Given the description of an element on the screen output the (x, y) to click on. 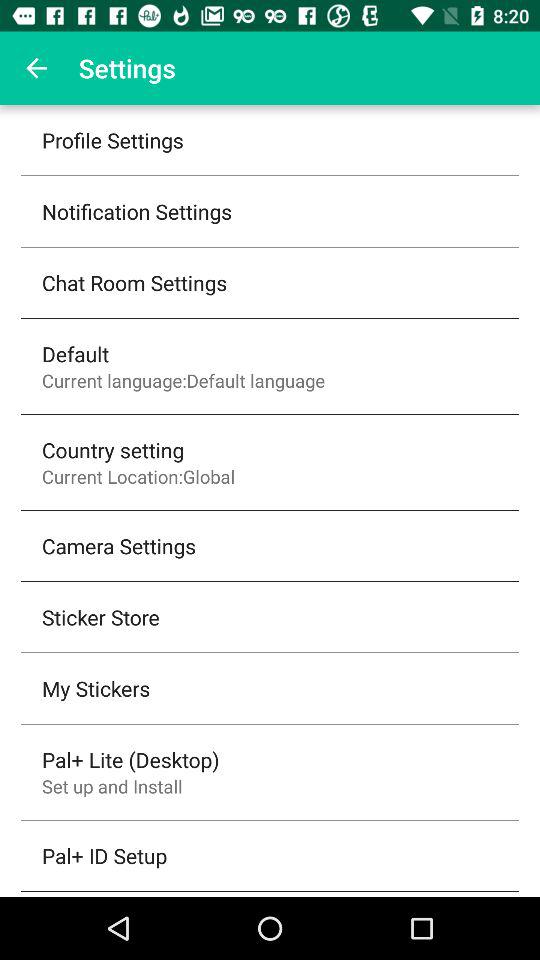
turn off item above default icon (134, 282)
